Given the description of an element on the screen output the (x, y) to click on. 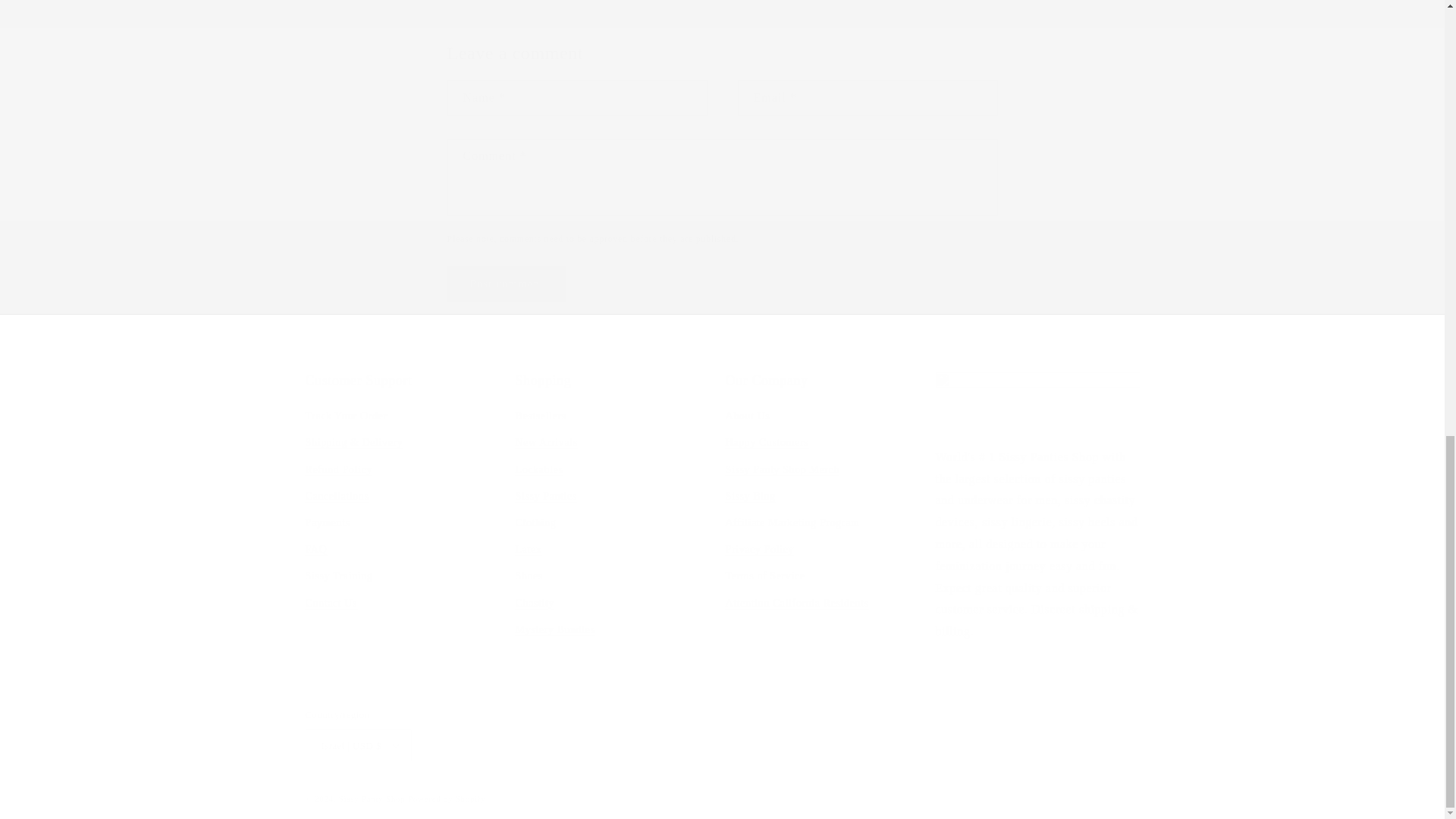
Post comment (506, 284)
